Given the description of an element on the screen output the (x, y) to click on. 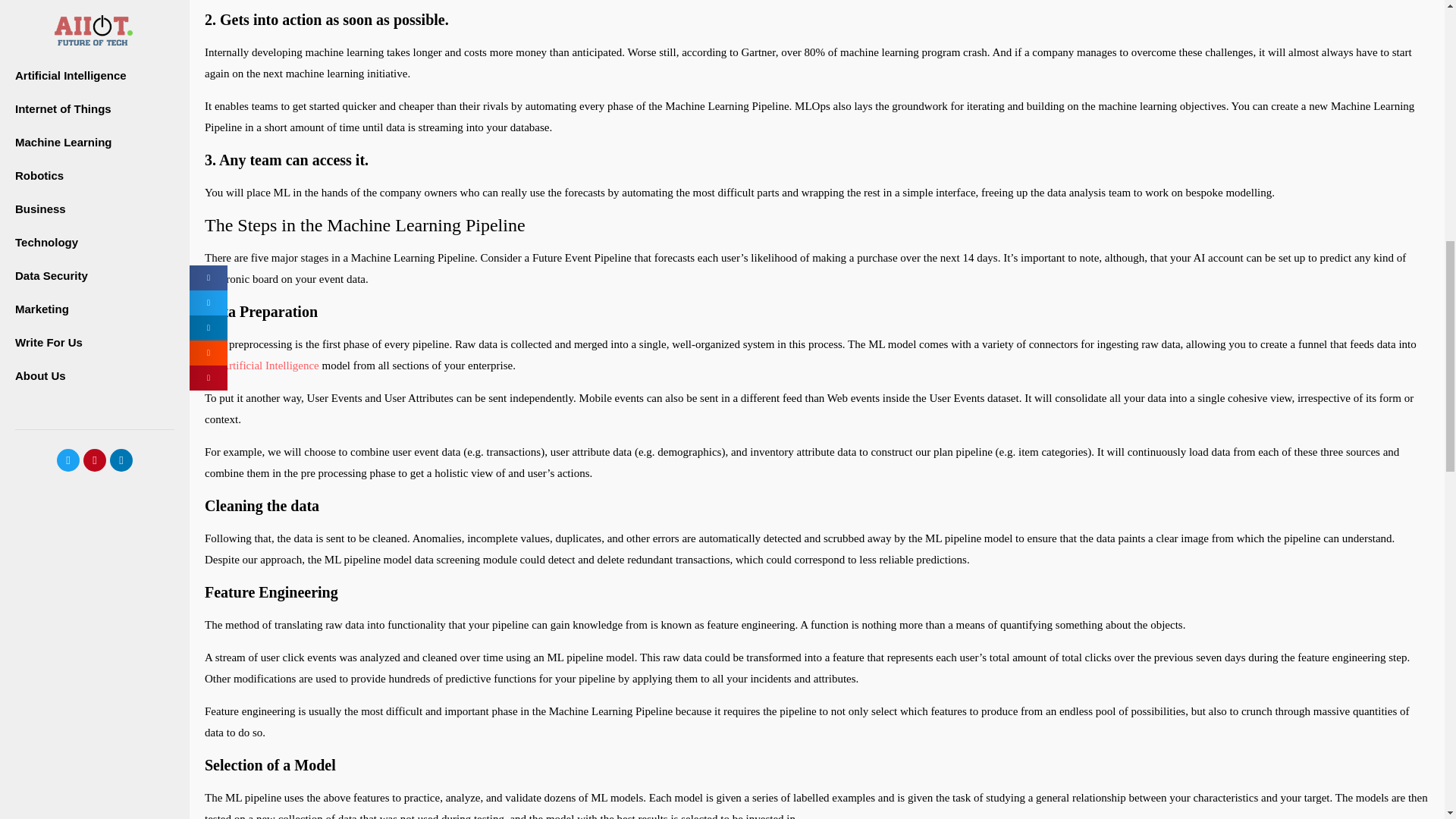
Artificial Intelligence (269, 365)
